Given the description of an element on the screen output the (x, y) to click on. 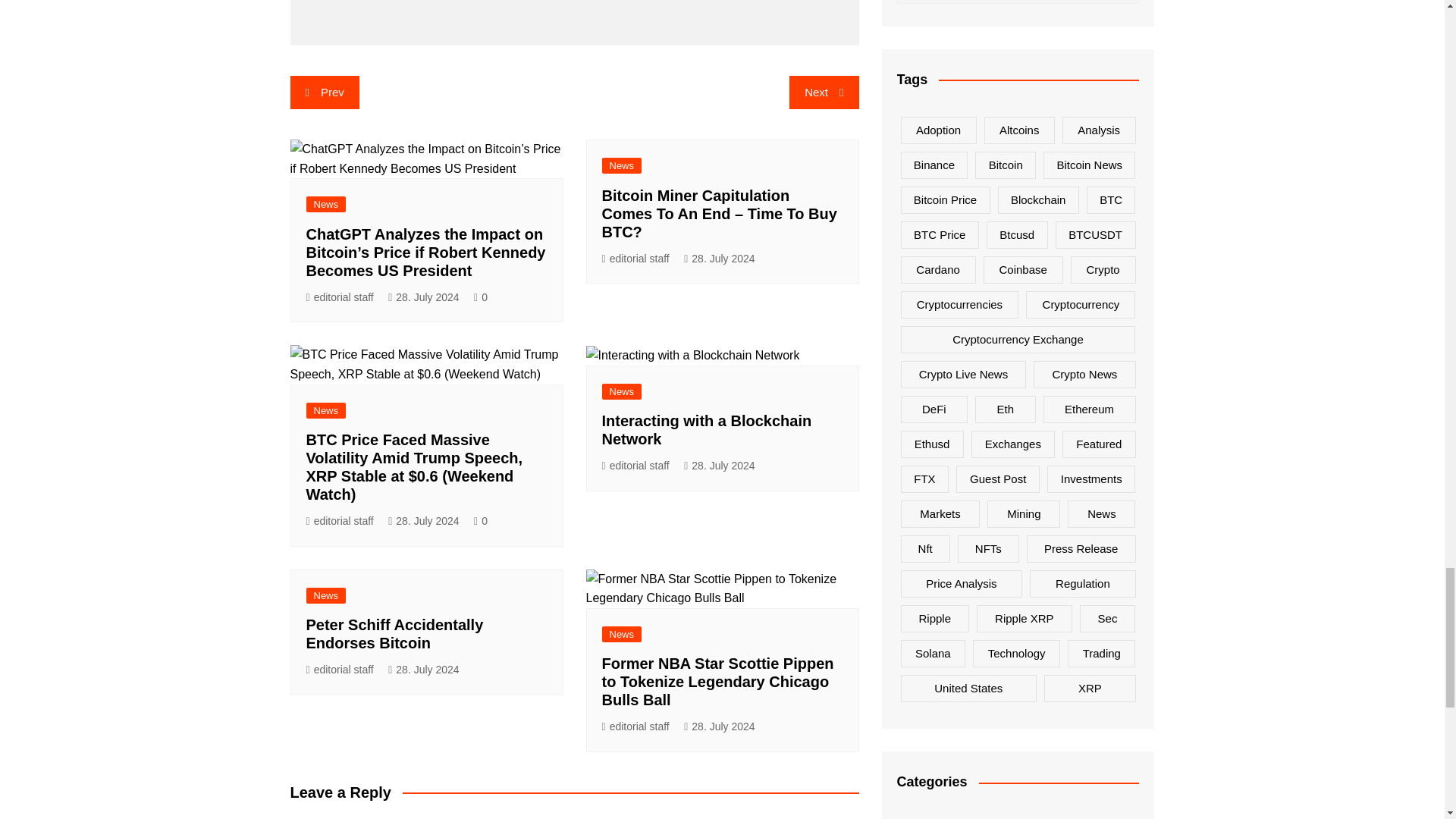
Prev (323, 92)
News (622, 391)
Next (824, 92)
editorial staff (339, 520)
Interacting with a Blockchain Network (707, 429)
28. July 2024 (423, 297)
28. July 2024 (423, 520)
editorial staff (635, 466)
28. July 2024 (719, 258)
editorial staff (635, 258)
News (622, 165)
News (325, 410)
editorial staff (339, 297)
News (325, 204)
28. July 2024 (719, 466)
